Given the description of an element on the screen output the (x, y) to click on. 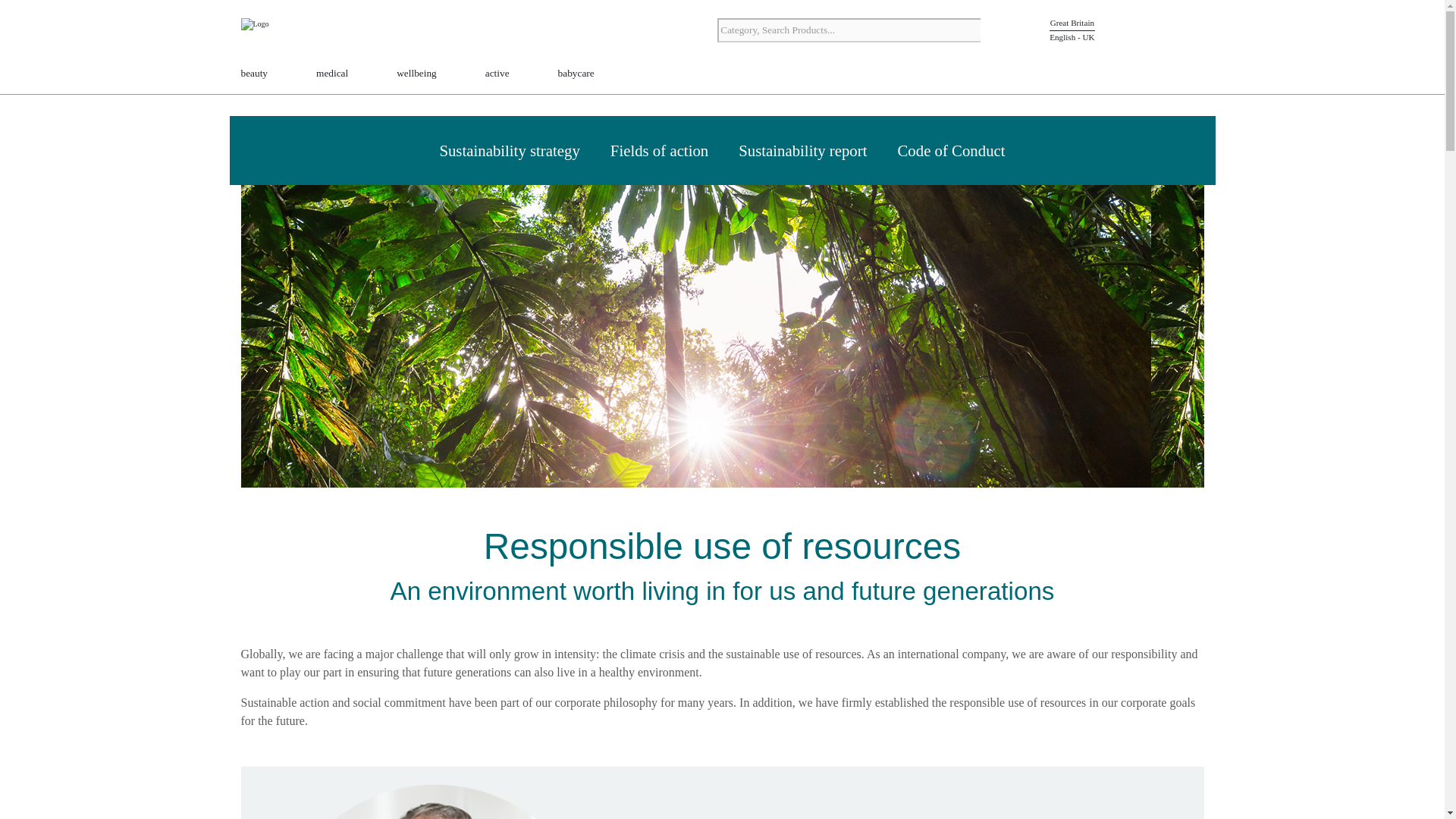
babycare (575, 73)
wellbeing (416, 73)
Logo (287, 31)
active (496, 73)
medical (331, 73)
beauty (254, 73)
beauty (254, 73)
